Given the description of an element on the screen output the (x, y) to click on. 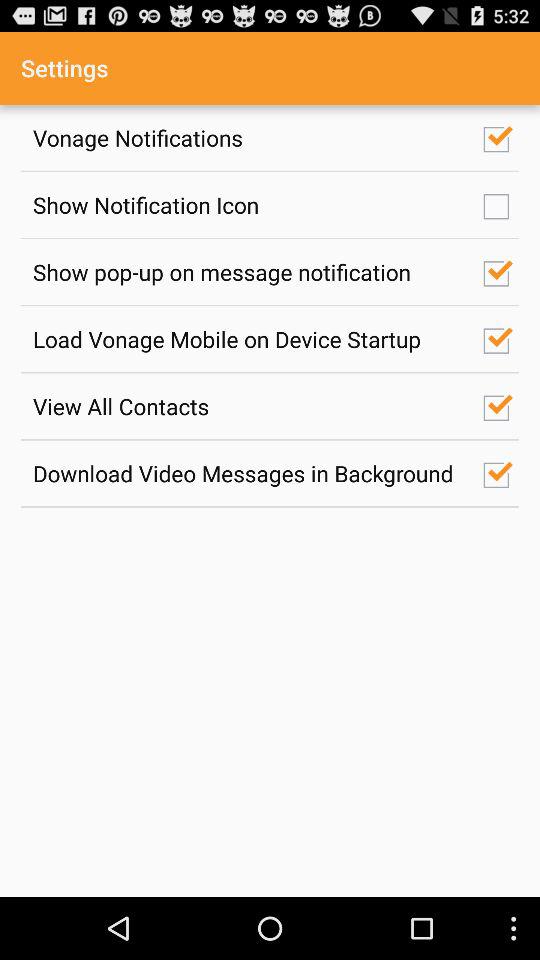
click the show pop up (247, 271)
